Given the description of an element on the screen output the (x, y) to click on. 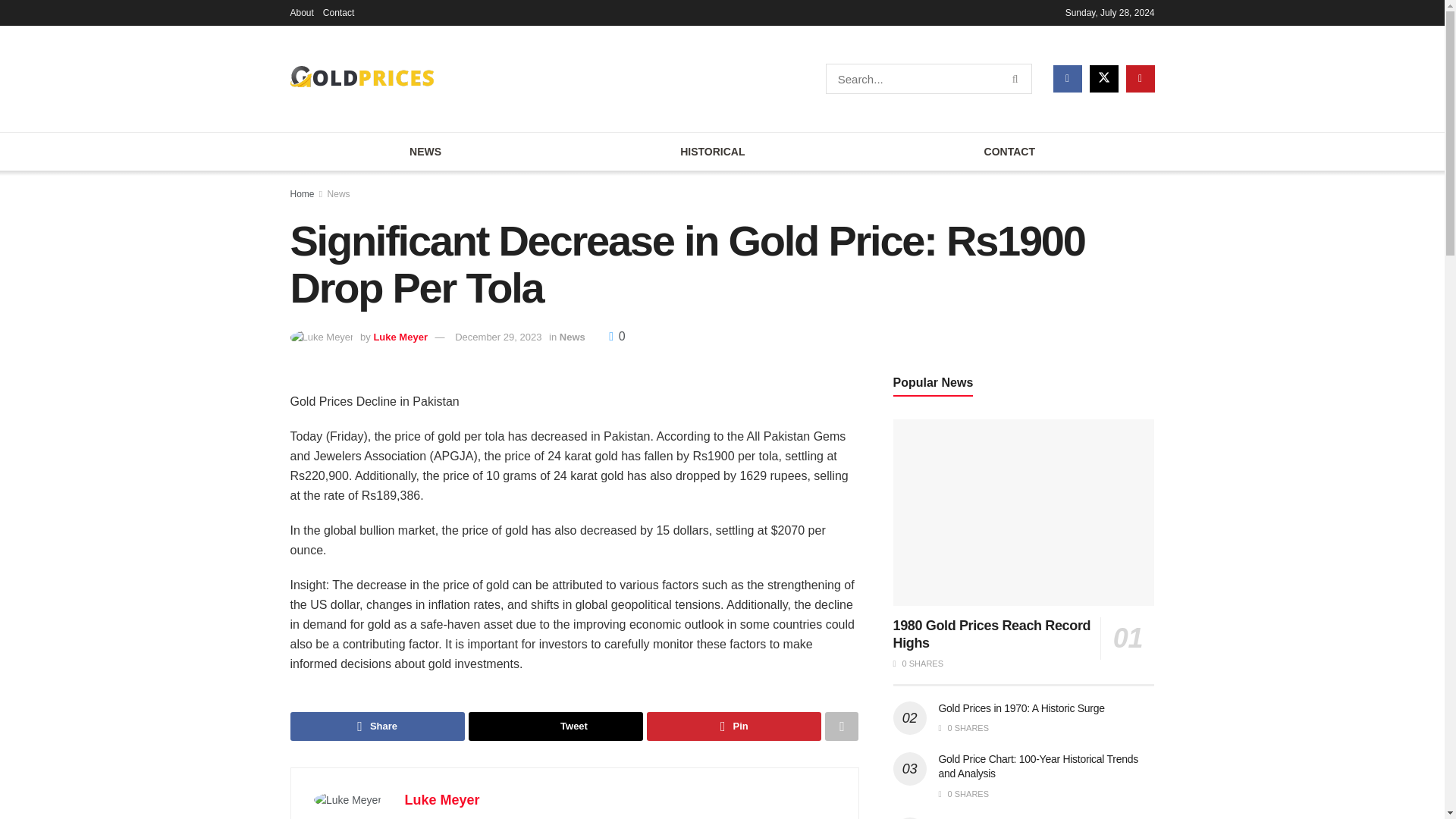
HISTORICAL (712, 151)
News (572, 337)
December 29, 2023 (497, 337)
Pin (733, 726)
About (301, 12)
NEWS (424, 151)
CONTACT (1009, 151)
0 (616, 336)
Tweet (555, 726)
Contact (338, 12)
Home (301, 194)
Luke Meyer (400, 337)
News (338, 194)
Luke Meyer (442, 799)
Share (376, 726)
